Given the description of an element on the screen output the (x, y) to click on. 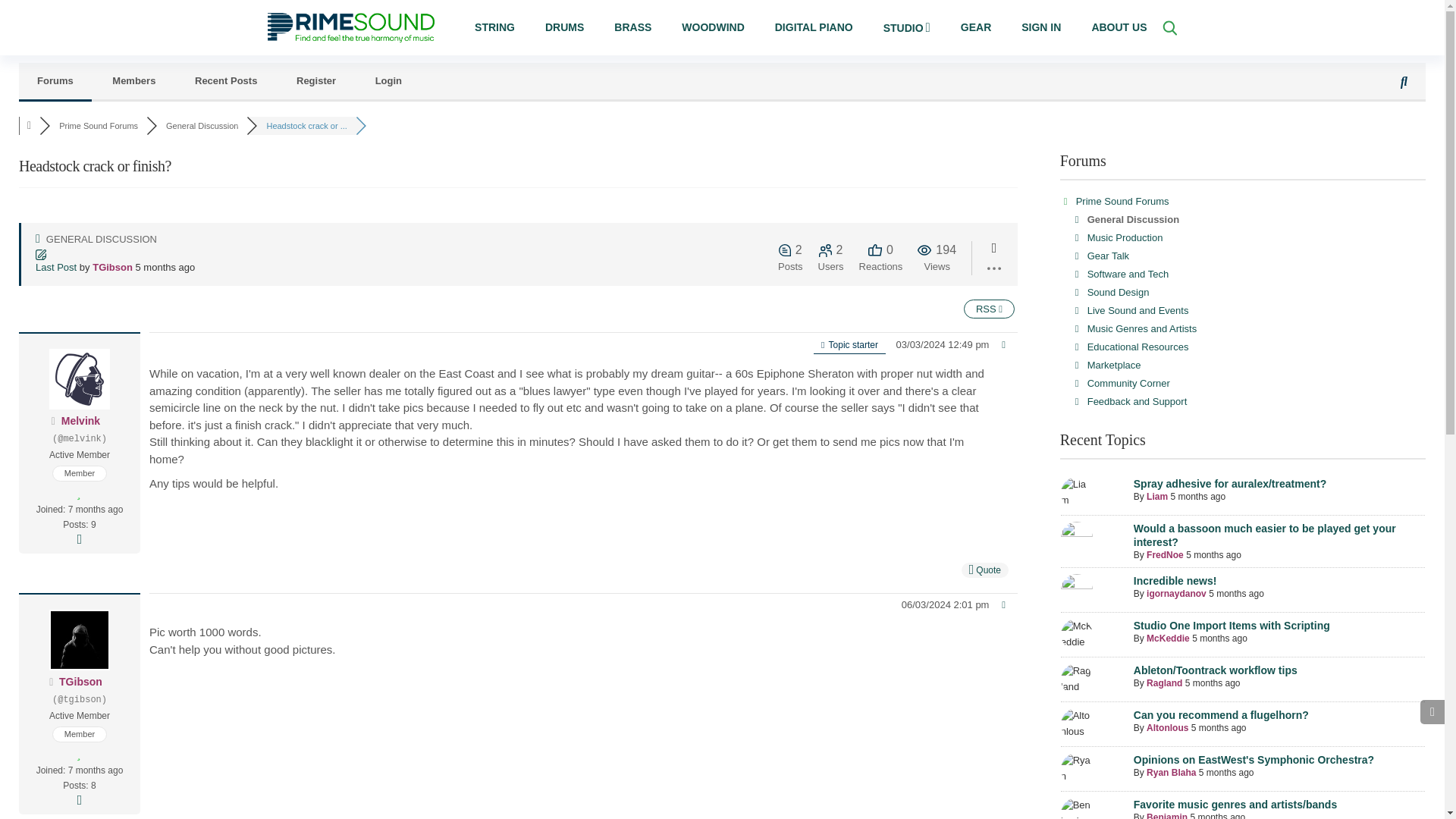
TGibson (112, 266)
TGibson (80, 681)
SIGN IN (1040, 27)
Rating Title (79, 454)
ABOUT US (1118, 27)
Rating Title (79, 715)
General Discussion (201, 125)
Topic RSS Feed (988, 308)
STRING (494, 27)
Last Post (114, 260)
